Given the description of an element on the screen output the (x, y) to click on. 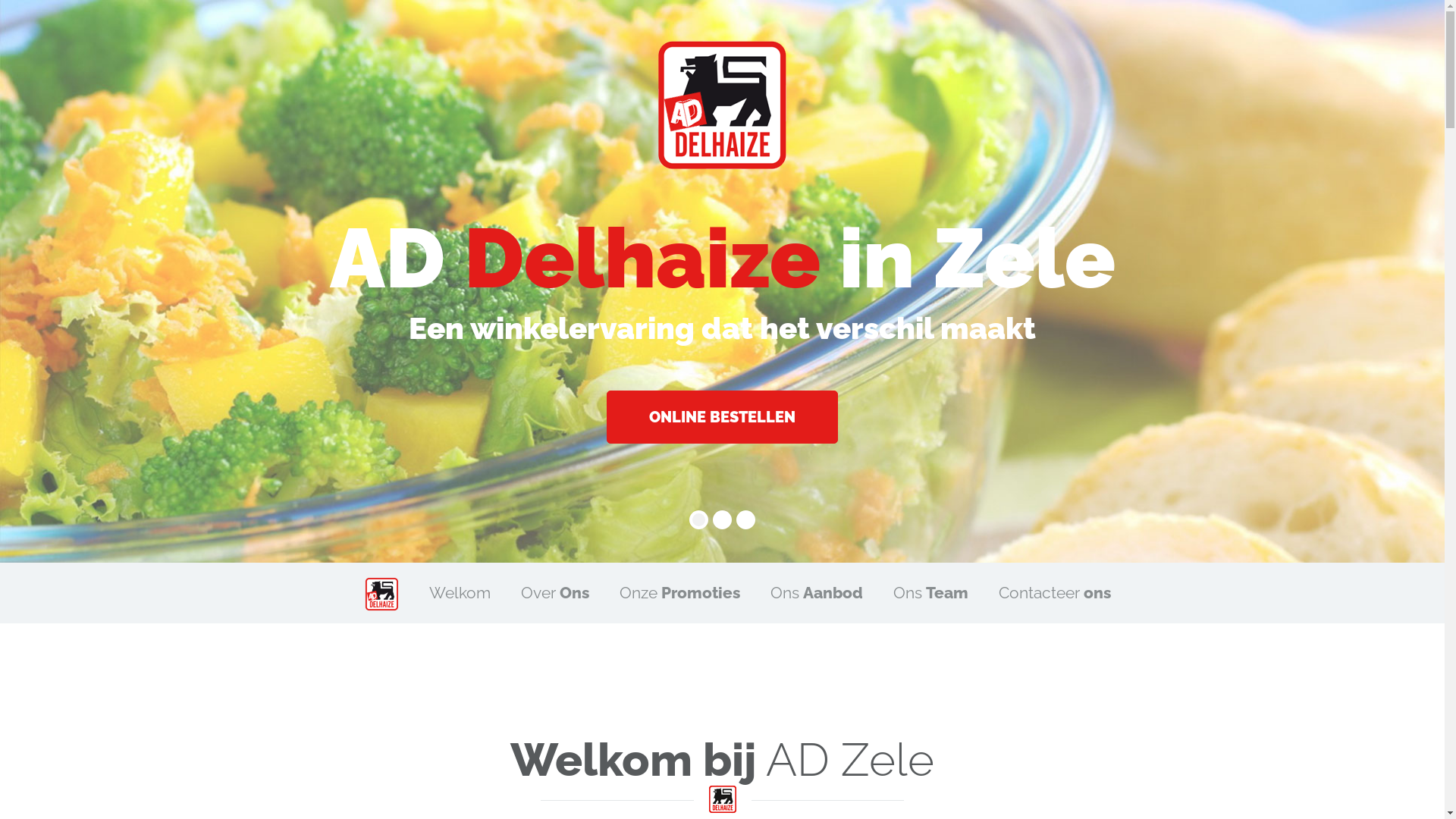
Ons Team Element type: text (930, 592)
1 Element type: text (698, 519)
3 Element type: text (745, 519)
Welkom Element type: text (459, 592)
Contacteer ons Element type: text (1053, 592)
Onze Promoties Element type: text (678, 592)
Over Ons Element type: text (554, 592)
2 Element type: text (721, 519)
ONLINE BESTELLEN Element type: text (721, 416)
Ons Aanbod Element type: text (816, 592)
